Given the description of an element on the screen output the (x, y) to click on. 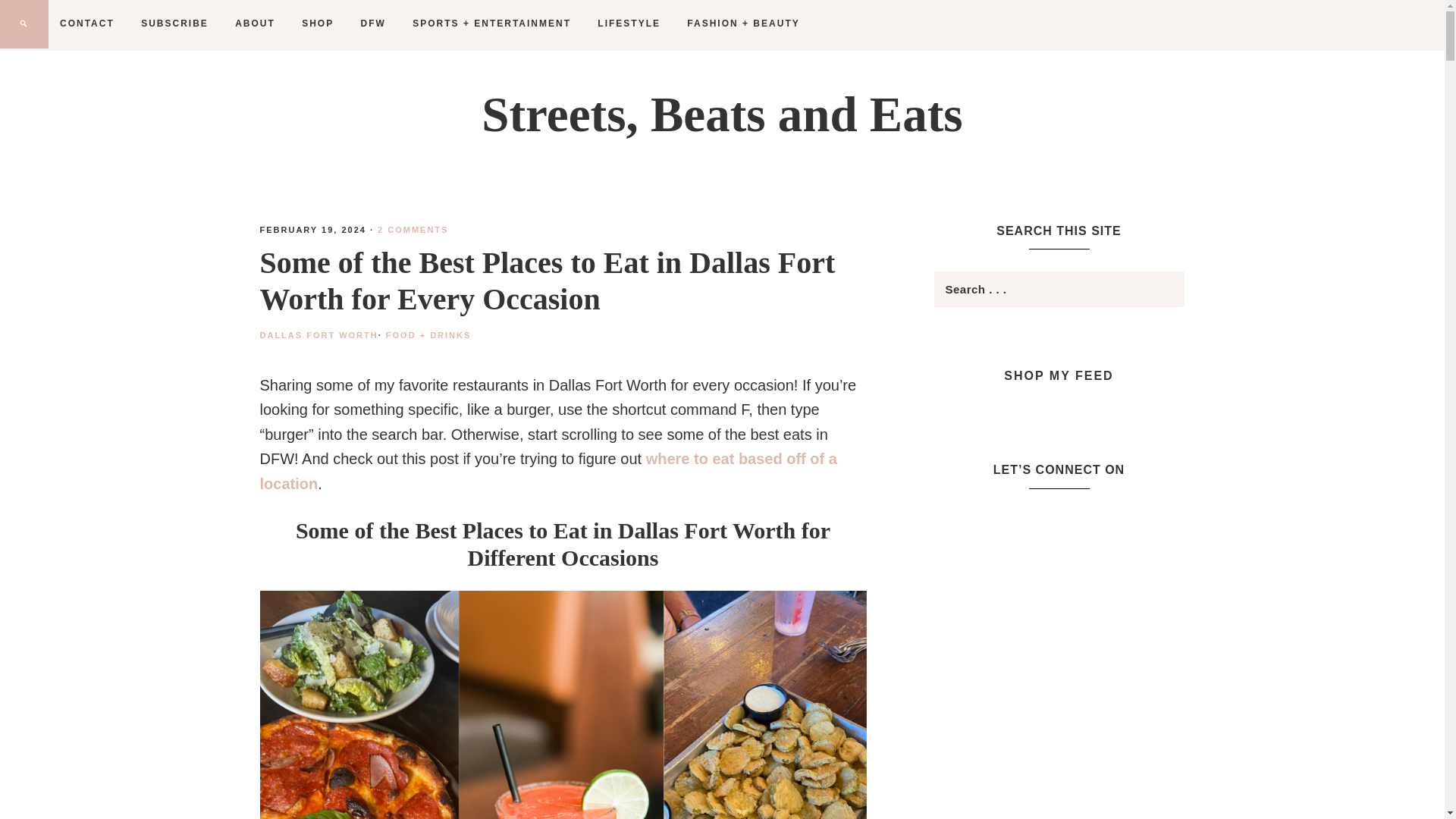
Streets, Beats and Eats (721, 113)
where to eat based off of a location (547, 471)
2 COMMENTS (412, 229)
LIFESTYLE (628, 23)
DFW (373, 23)
CONTACT (86, 23)
SUBSCRIBE (174, 23)
ABOUT (255, 23)
